Given the description of an element on the screen output the (x, y) to click on. 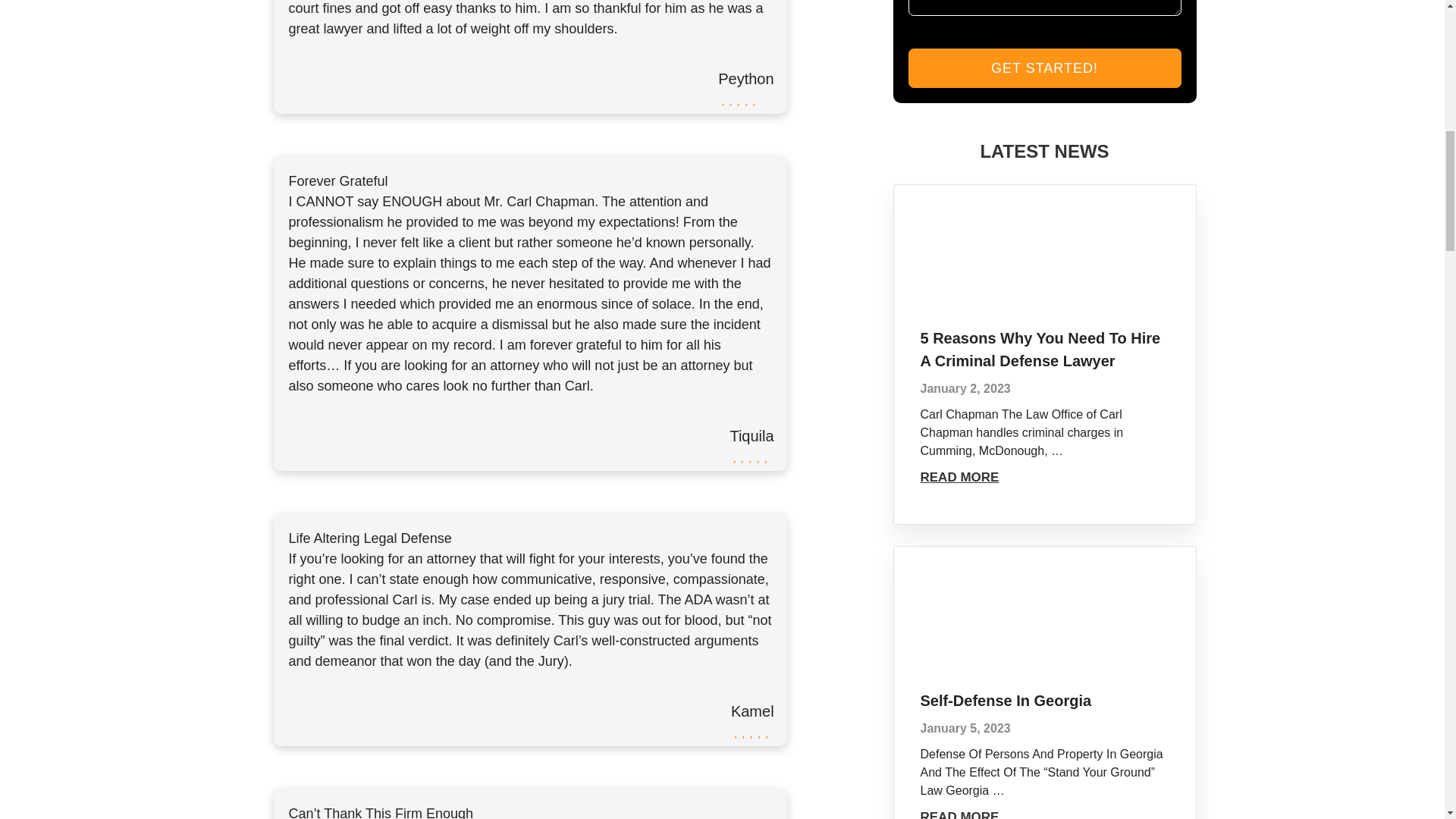
Get Started! (1044, 67)
Get Started! (1044, 67)
5 Reasons Why You Need To Hire A Criminal Defense Lawyer (1040, 349)
